Given the description of an element on the screen output the (x, y) to click on. 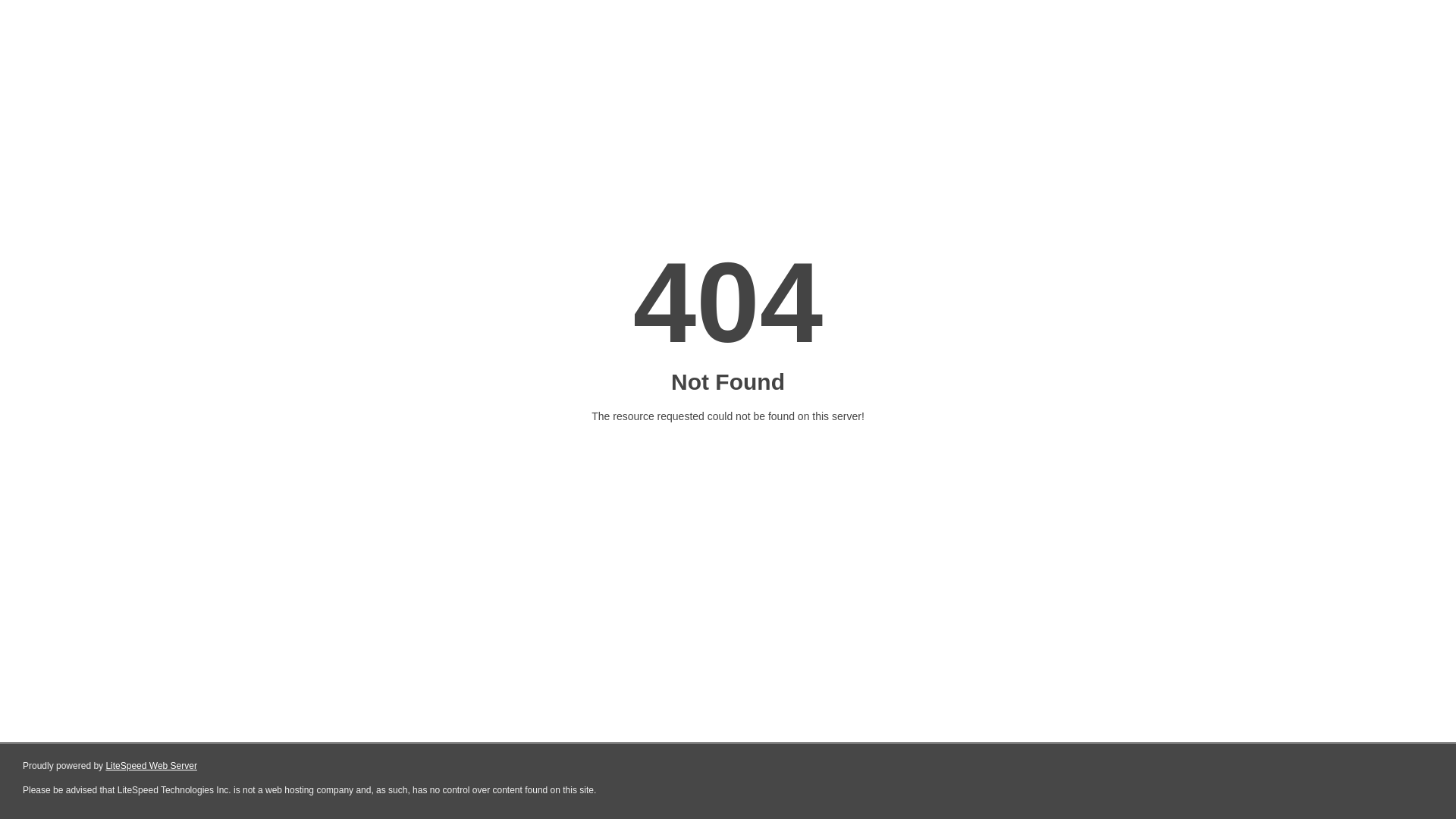
LiteSpeed Web Server Element type: text (151, 765)
